Given the description of an element on the screen output the (x, y) to click on. 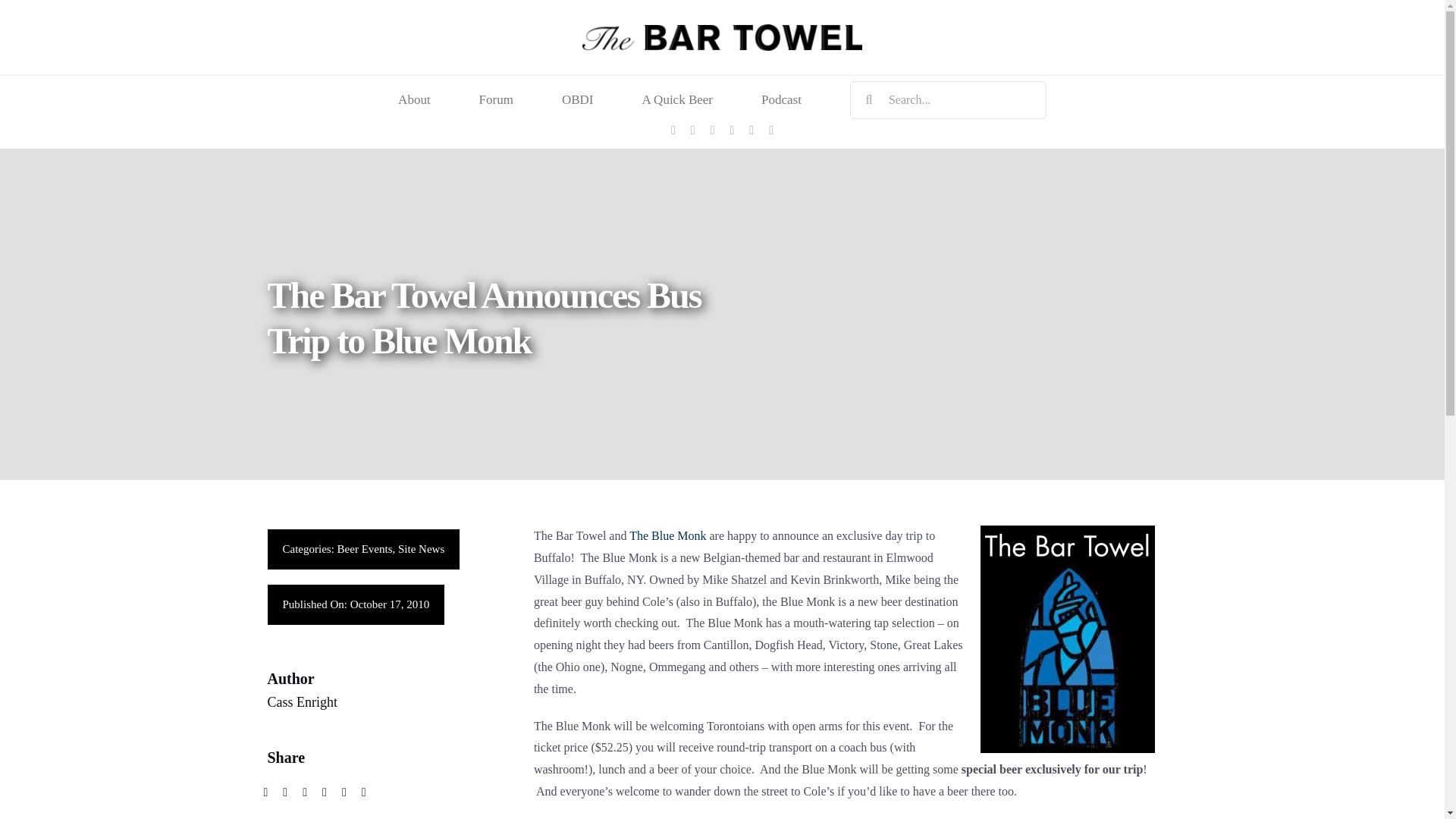
Site News (420, 548)
The Blue Monk (667, 535)
A Quick Beer (677, 100)
Beer Events (365, 548)
